Given the description of an element on the screen output the (x, y) to click on. 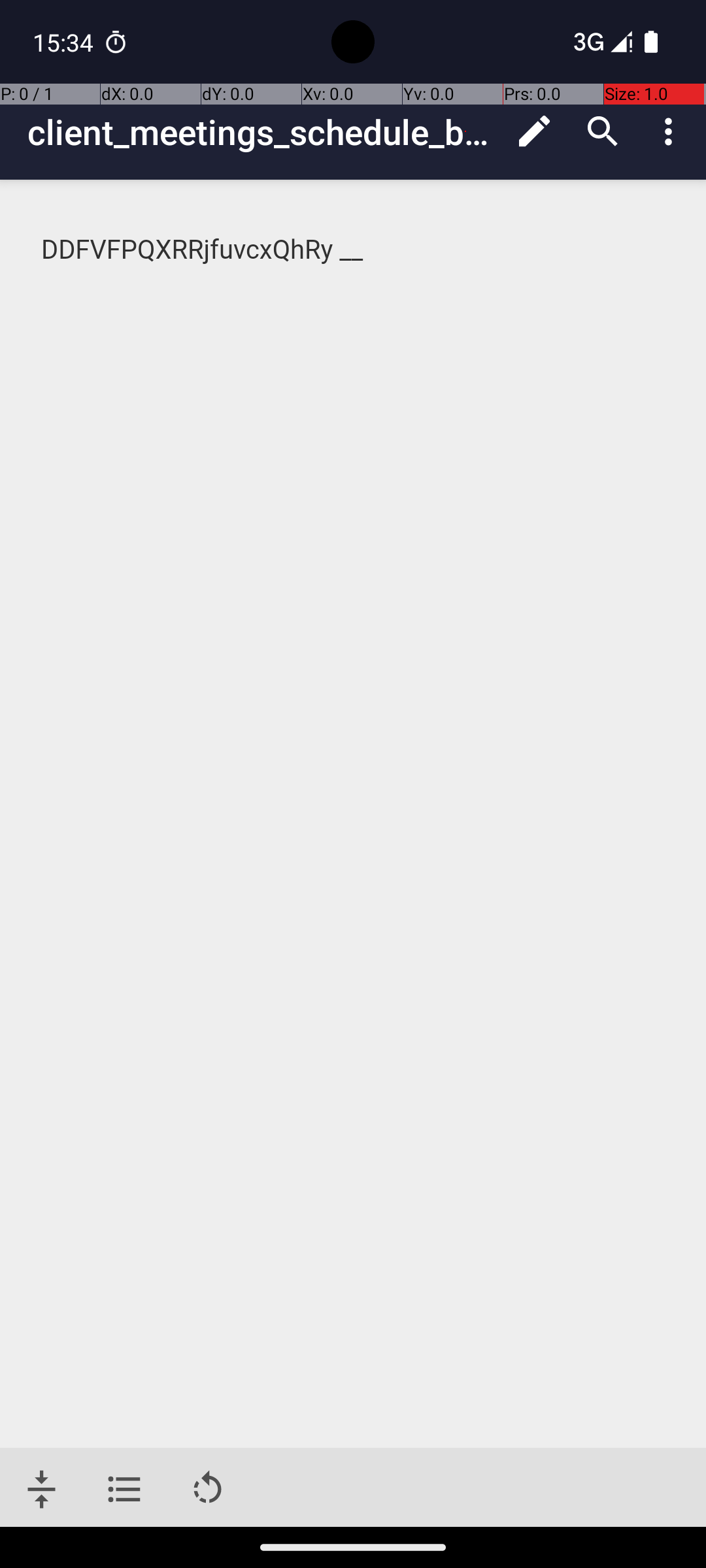
client_meetings_schedule_backup Element type: android.widget.TextView (263, 131)
DDFVFPQXRRjfuvcxQhRy __ Element type: android.widget.TextView (354, 249)
